Given the description of an element on the screen output the (x, y) to click on. 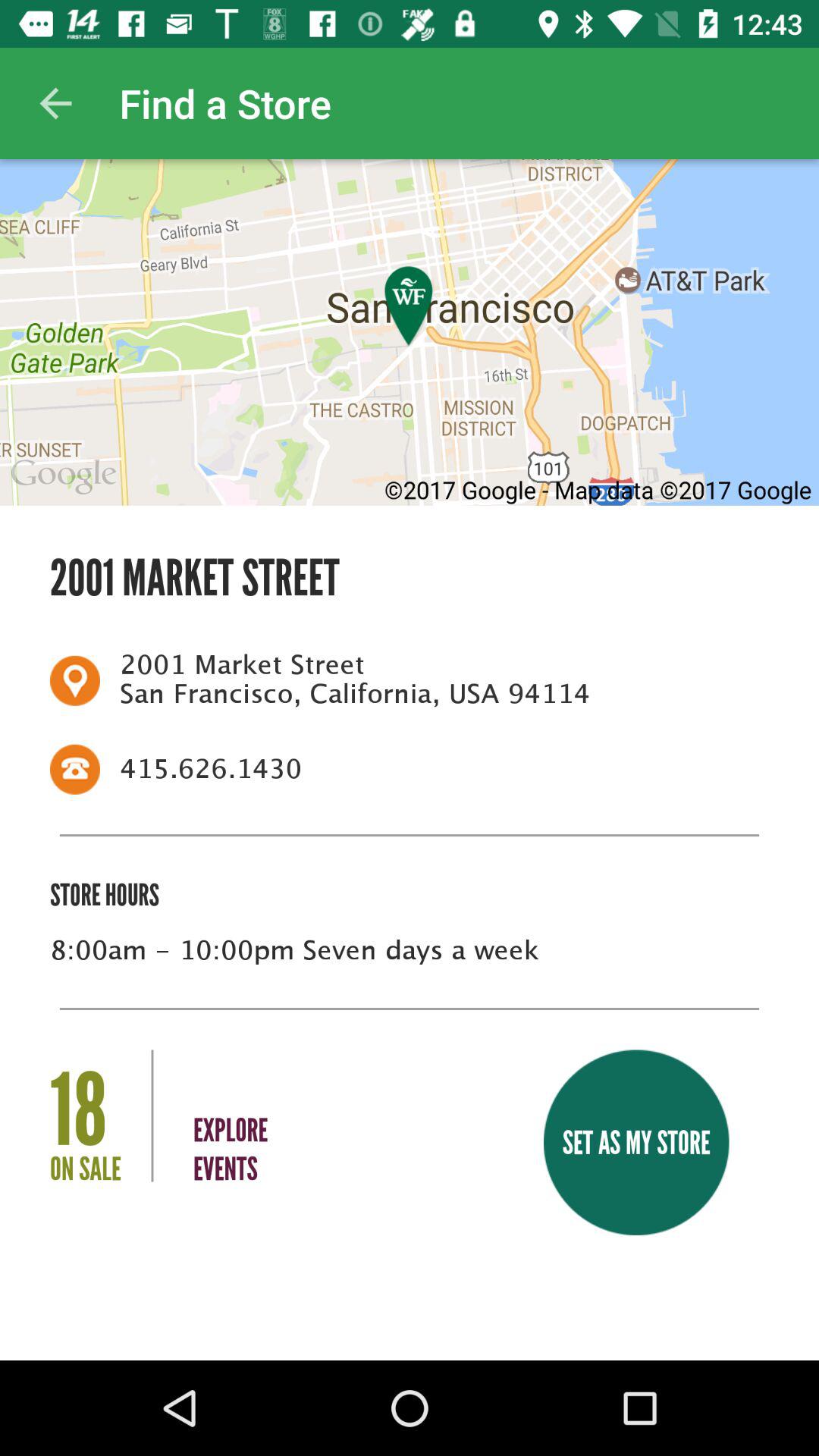
turn on the set as my (636, 1142)
